Given the description of an element on the screen output the (x, y) to click on. 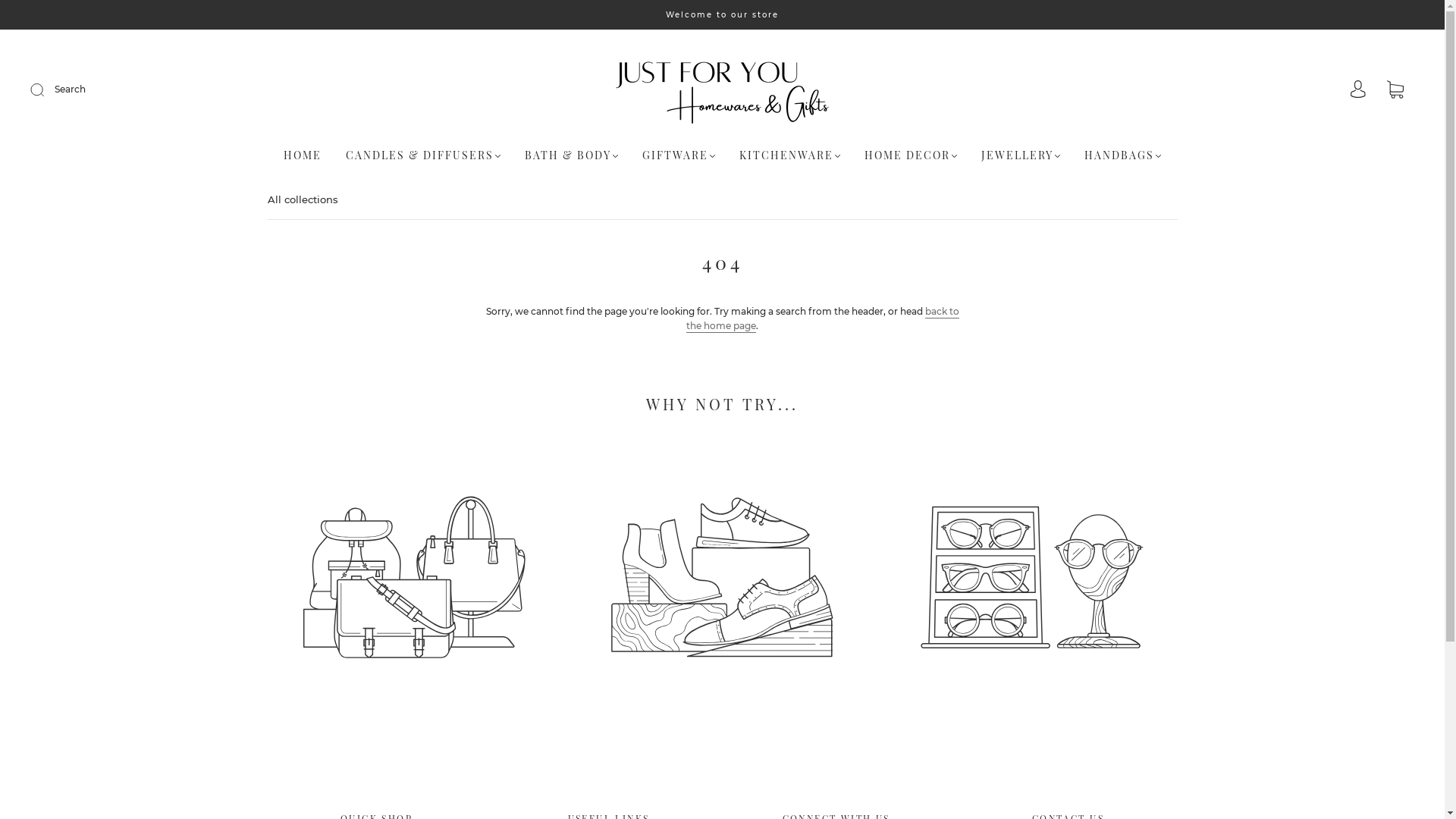
All collections Element type: text (301, 199)
JEWELLERY Element type: text (1020, 155)
BATH & BODY Element type: text (571, 155)
HOME DECOR Element type: text (910, 155)
HANDBAGS Element type: text (1122, 155)
KITCHENWARE Element type: text (789, 155)
GIFTWARE Element type: text (678, 155)
back to the home page Element type: text (822, 318)
CANDLES & DIFFUSERS Element type: text (422, 155)
HOME Element type: text (302, 155)
